Given the description of an element on the screen output the (x, y) to click on. 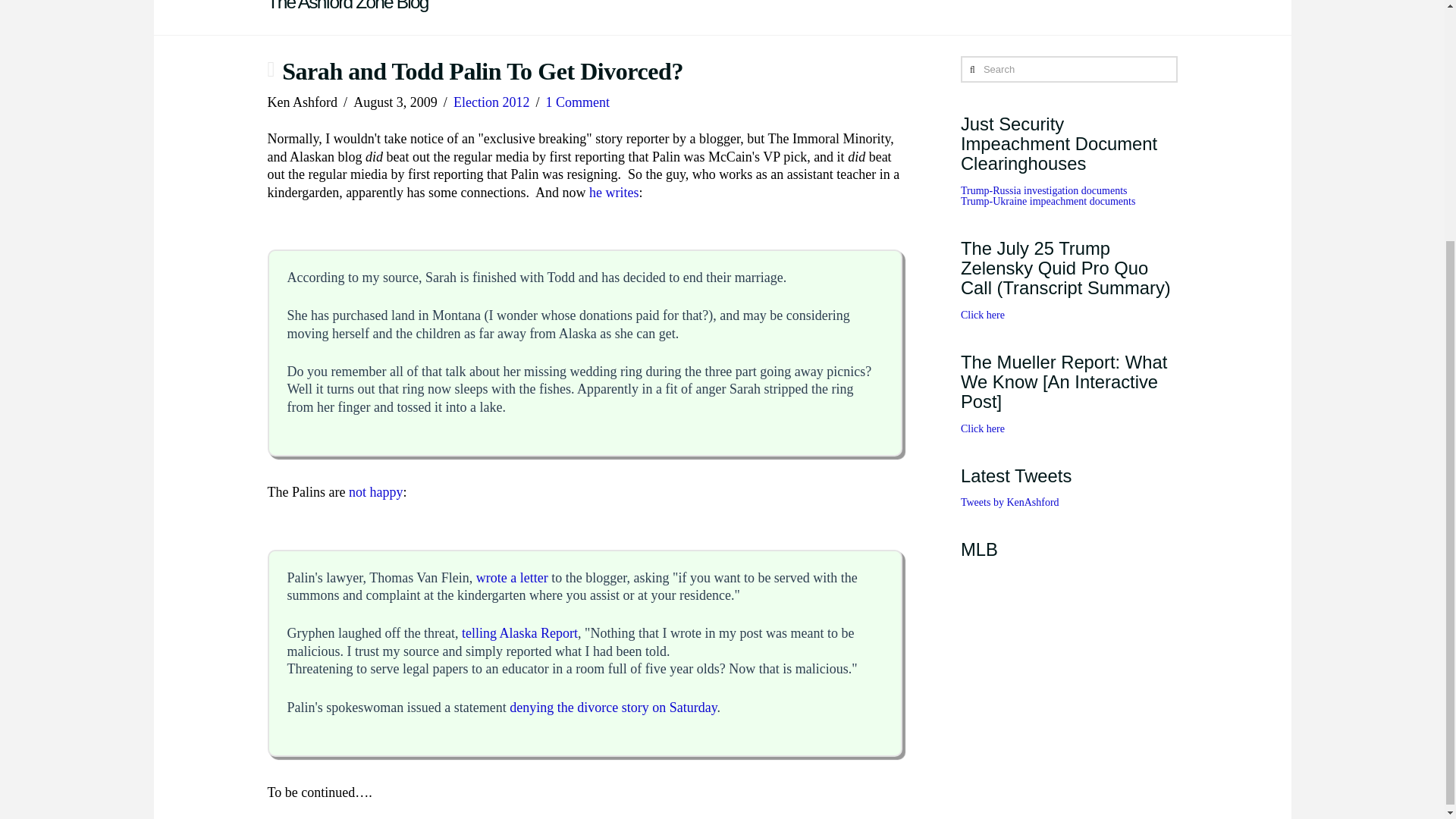
he writes (614, 192)
denying the divorce story on Saturday (612, 707)
Click here (982, 428)
Election 2012 (490, 102)
Trump-Ukraine impeachment documents (1047, 201)
Trump-Russia investigation documents (1043, 190)
Click here (982, 315)
Tweets by KenAshford (1009, 501)
not happy (376, 491)
telling Alaska Report (519, 632)
wrote a letter (512, 577)
1 Comment (578, 102)
